Given the description of an element on the screen output the (x, y) to click on. 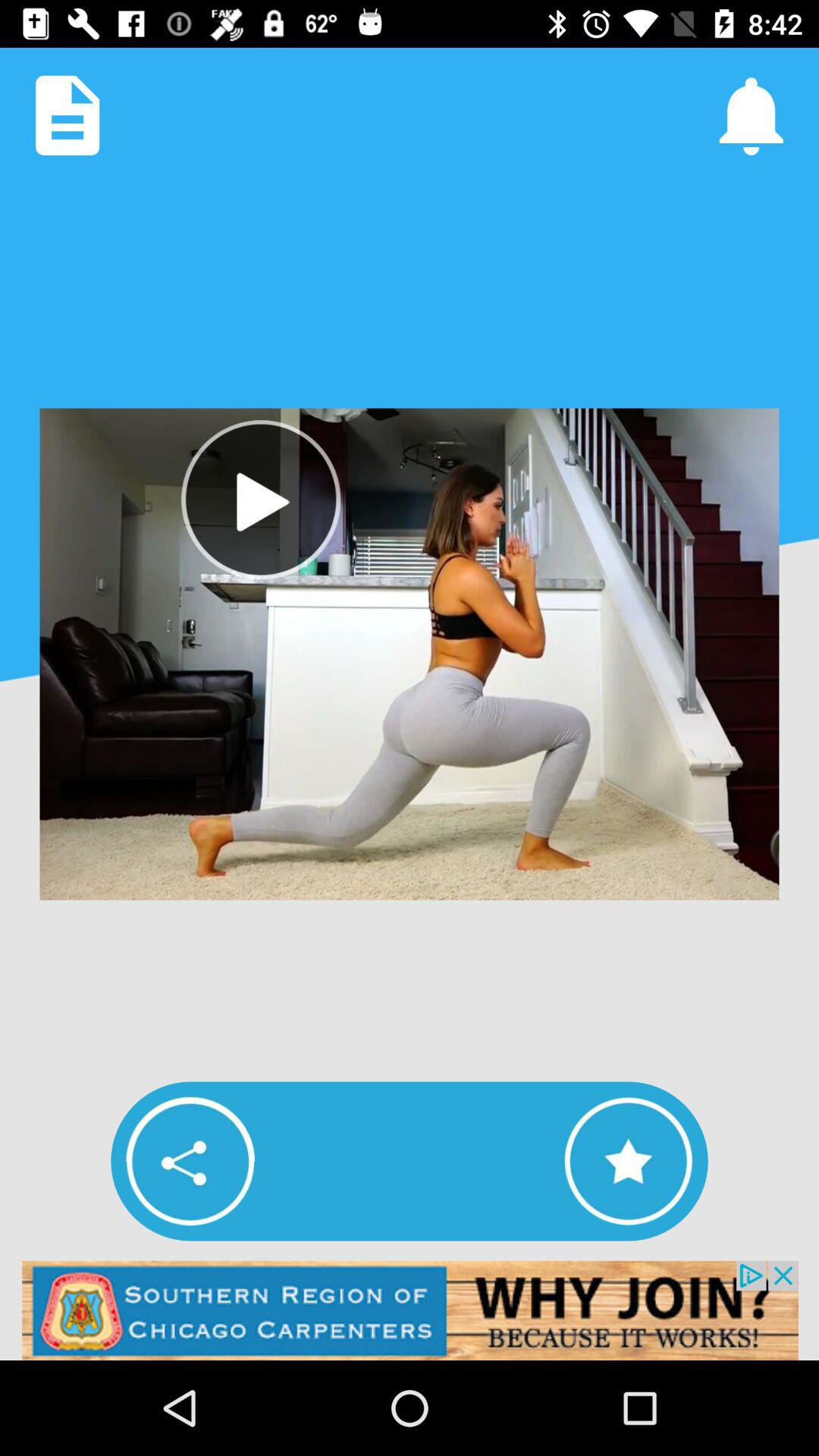
open menu (67, 115)
